Given the description of an element on the screen output the (x, y) to click on. 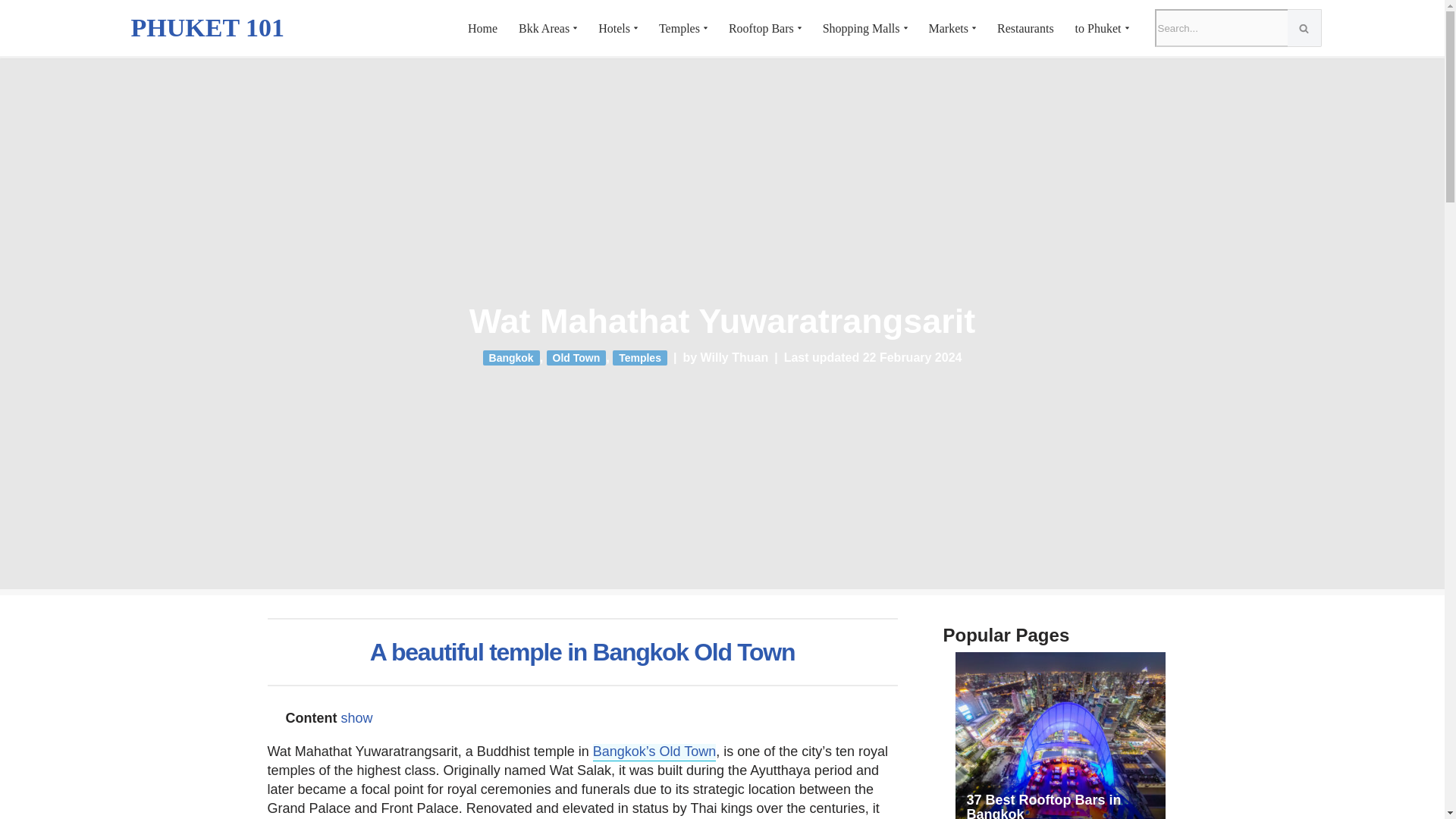
Temples (679, 28)
Posts by Willy Thuan (734, 357)
Bkk Areas (543, 28)
Shopping Malls (860, 28)
Home (482, 28)
Rooftop Bars (761, 28)
Hotels (614, 28)
PHUKET 101 (207, 27)
Skip to content (11, 31)
